Given the description of an element on the screen output the (x, y) to click on. 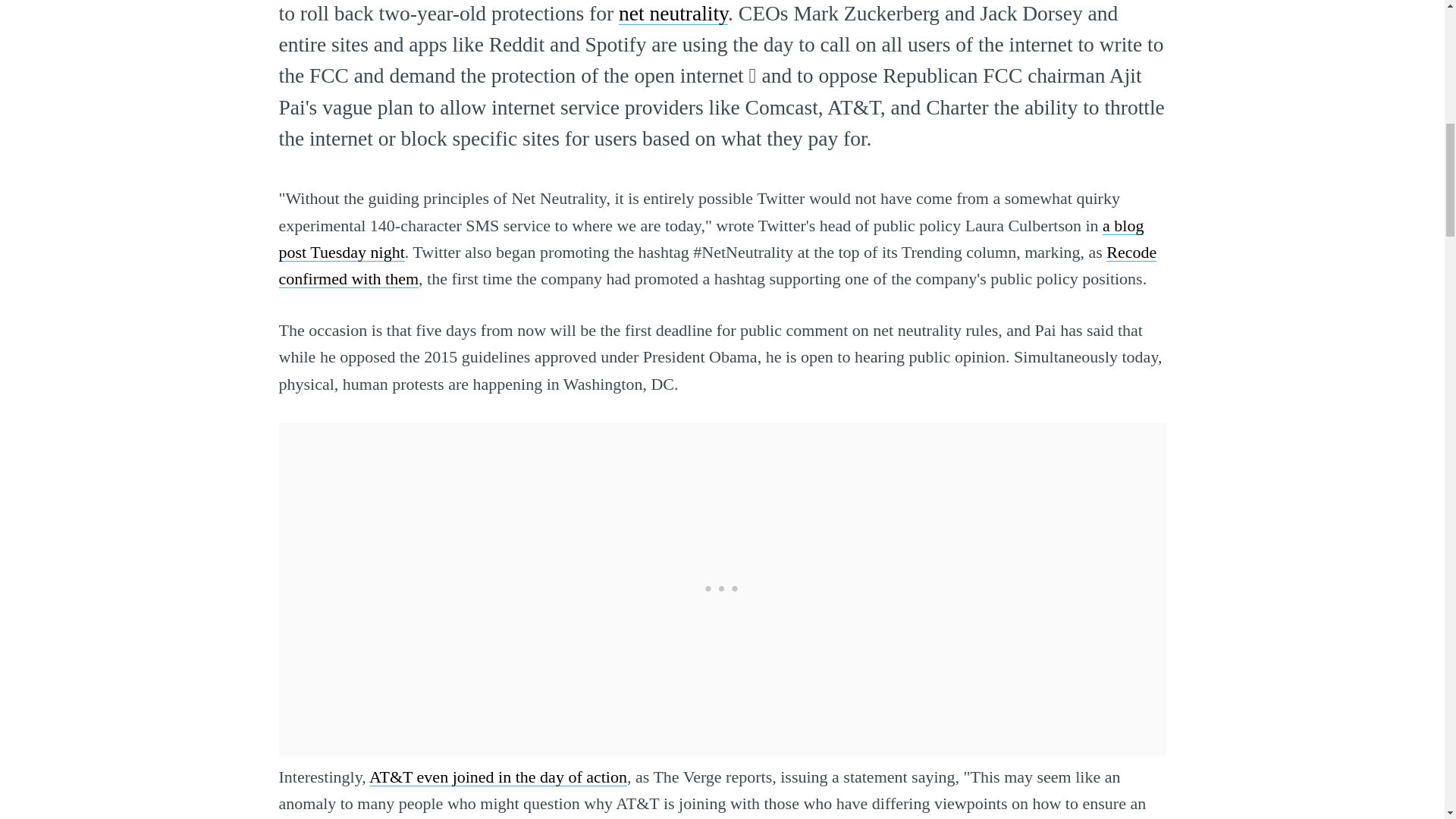
a blog post Tuesday night (711, 238)
Recode confirmed with them (718, 265)
net neutrality (673, 13)
